Given the description of an element on the screen output the (x, y) to click on. 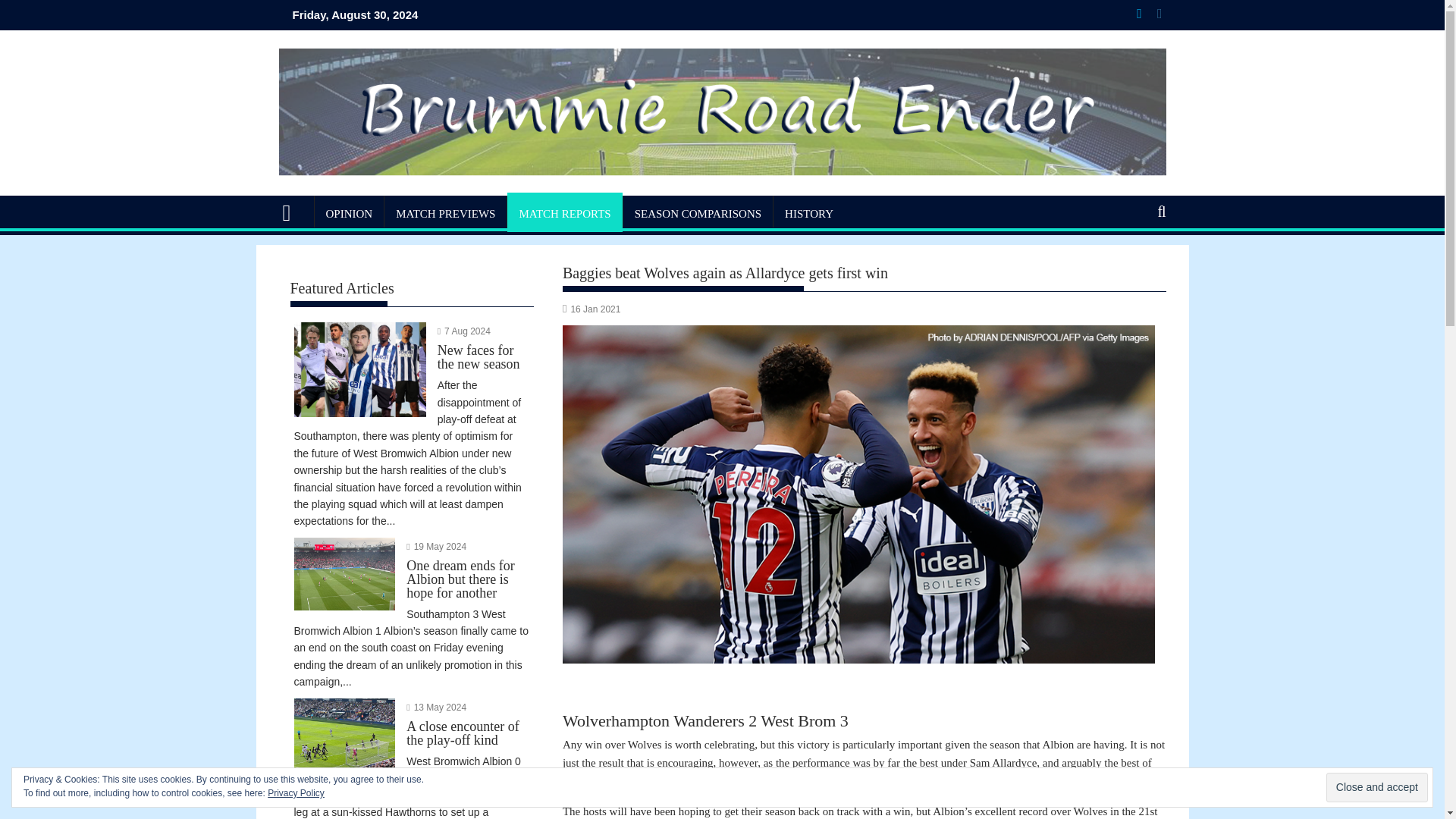
HISTORY (808, 213)
MATCH PREVIEWS (445, 213)
16 Jan 2021 (595, 308)
New faces for the new season (411, 366)
SEASON COMPARISONS (698, 213)
Brummie Road Ender (293, 210)
13 May 2024 (439, 706)
19 May 2024 (439, 546)
Close and accept (1377, 787)
7 Aug 2024 (467, 330)
